Given the description of an element on the screen output the (x, y) to click on. 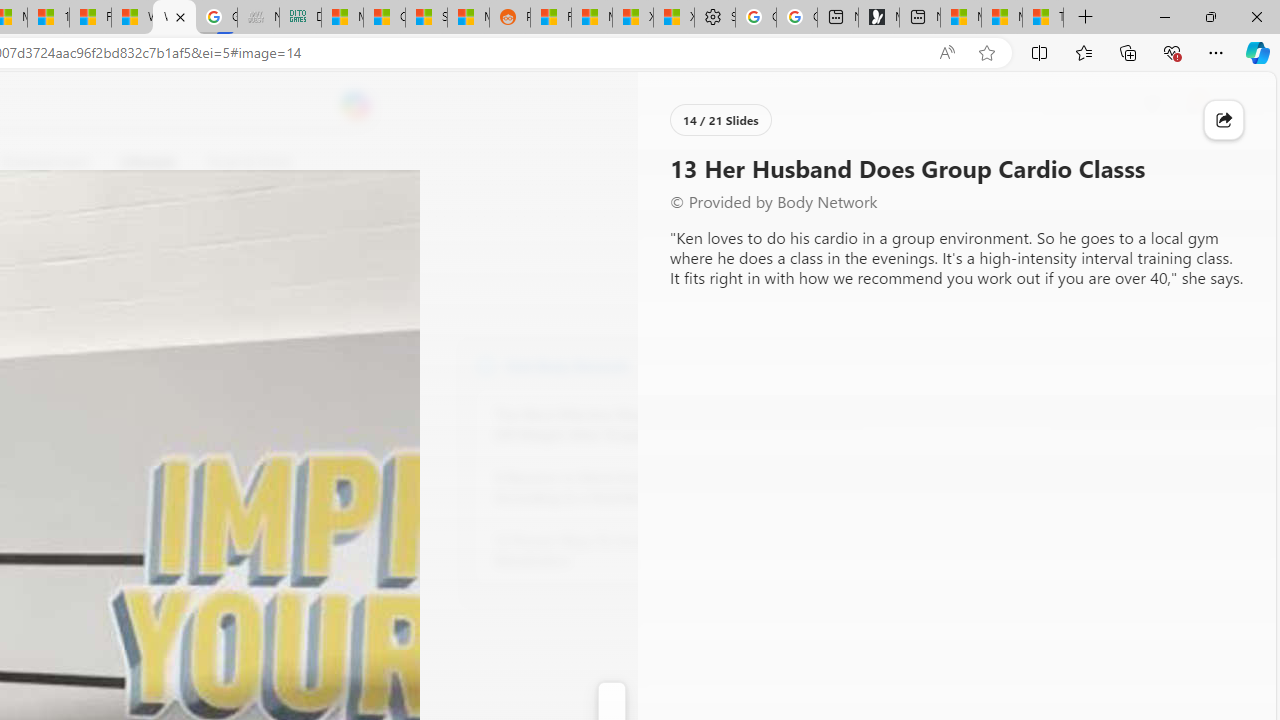
These 3 Stocks Pay You More Than 5% to Own Them (1042, 17)
Food & Drink (249, 162)
Notifications (1192, 105)
Microsoft Start Gaming (878, 17)
Go to publisher's site (180, 258)
Open settings (1231, 105)
12 Proven Ways To Increase Your Metabolism (603, 550)
MSNBC - MSN (342, 17)
Entertainment (45, 162)
Open Copilot (355, 105)
MSN (468, 17)
